Given the description of an element on the screen output the (x, y) to click on. 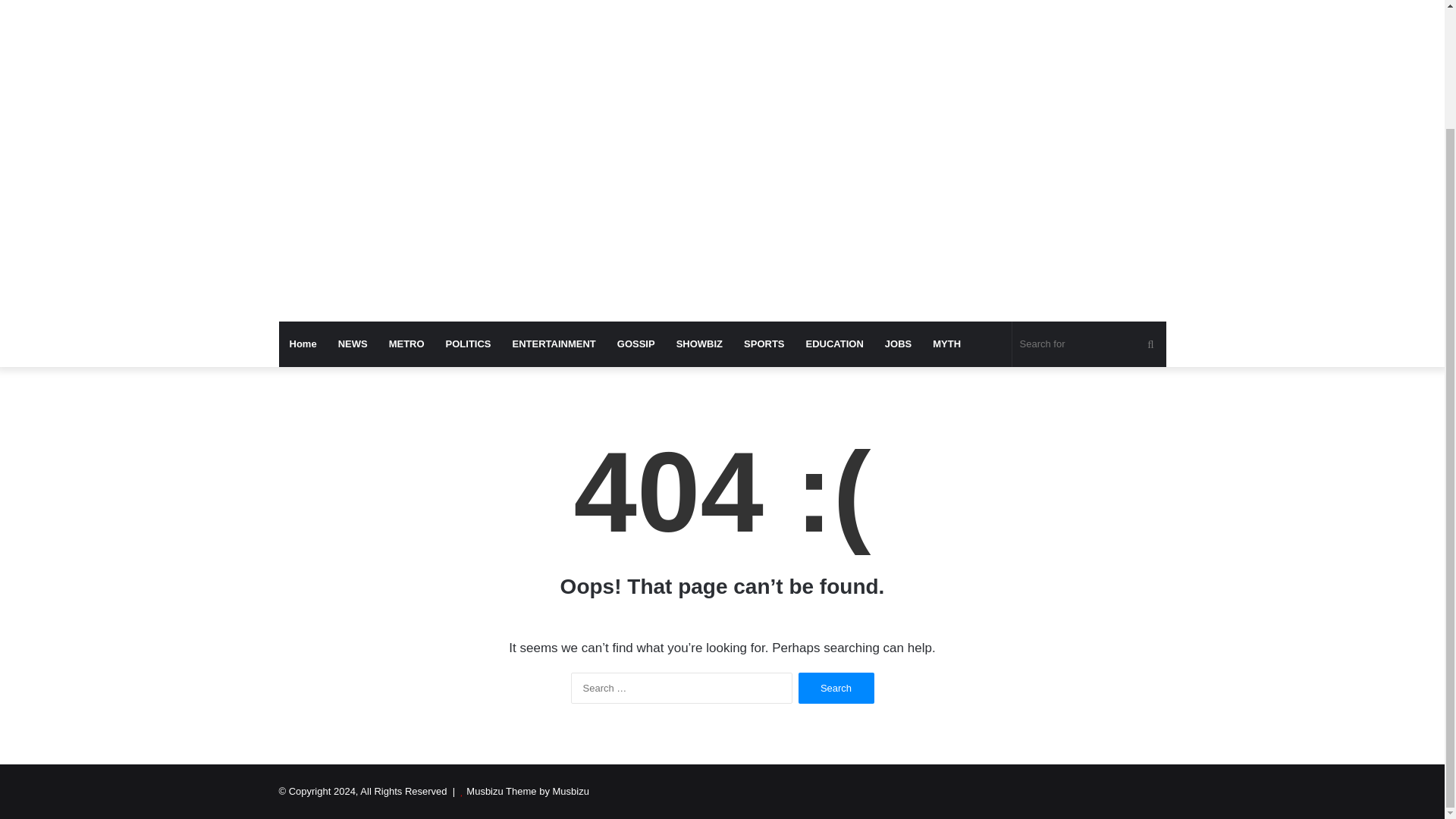
Musbizu (419, 4)
JOBS (898, 343)
Search (835, 687)
Home (303, 343)
METRO (406, 343)
SPORTS (763, 343)
NEWS (352, 343)
SHOWBIZ (699, 343)
EDUCATION (834, 343)
